Given the description of an element on the screen output the (x, y) to click on. 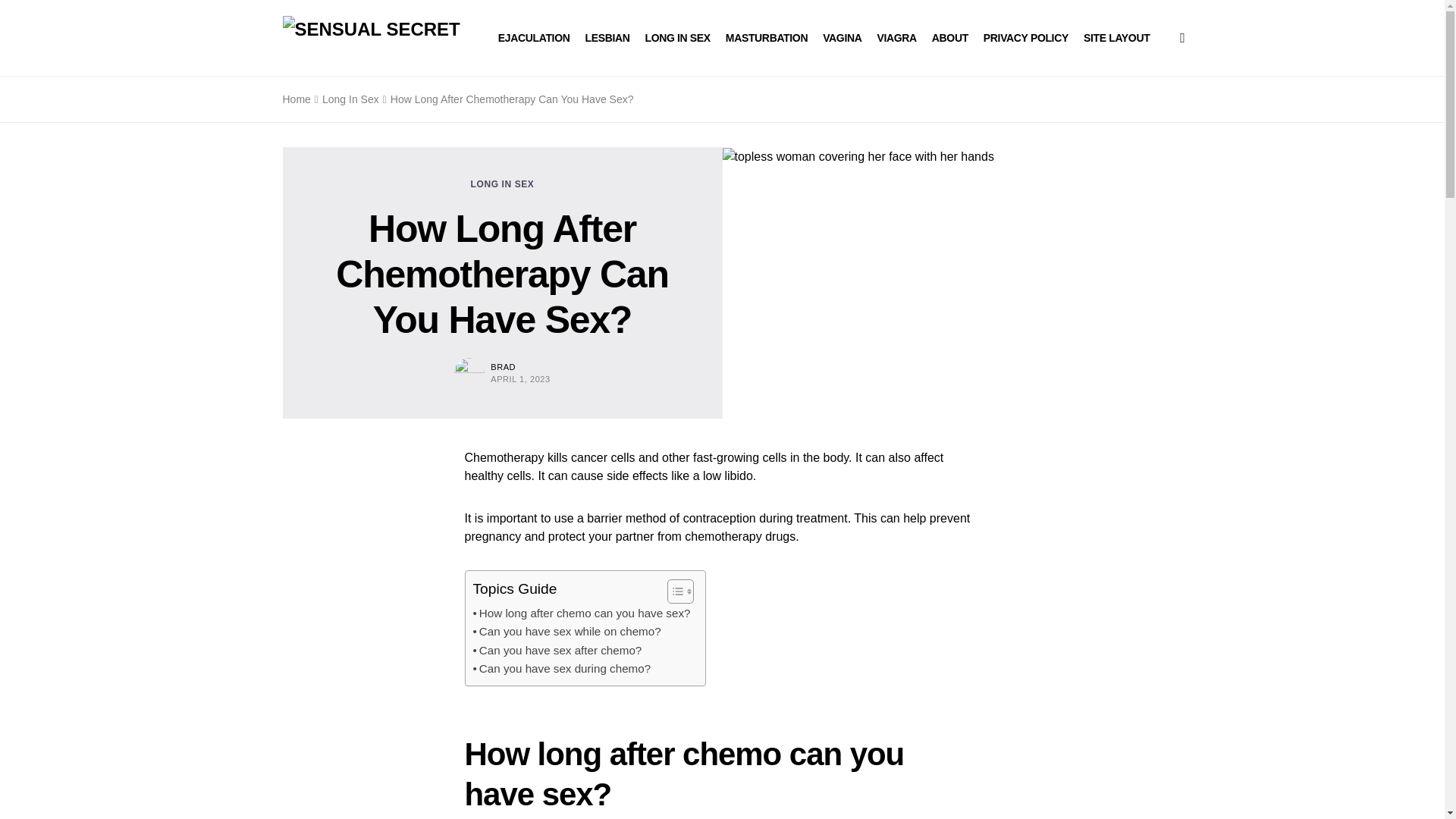
Can you have sex during chemo? (561, 669)
Long In Sex (349, 99)
Can you have sex after chemo? (557, 650)
EJACULATION (533, 38)
PRIVACY POLICY (1026, 38)
Home (296, 99)
LONG IN SEX (502, 184)
How long after chemo can you have sex? (581, 613)
BRAD (502, 367)
MASTURBATION (766, 38)
